Given the description of an element on the screen output the (x, y) to click on. 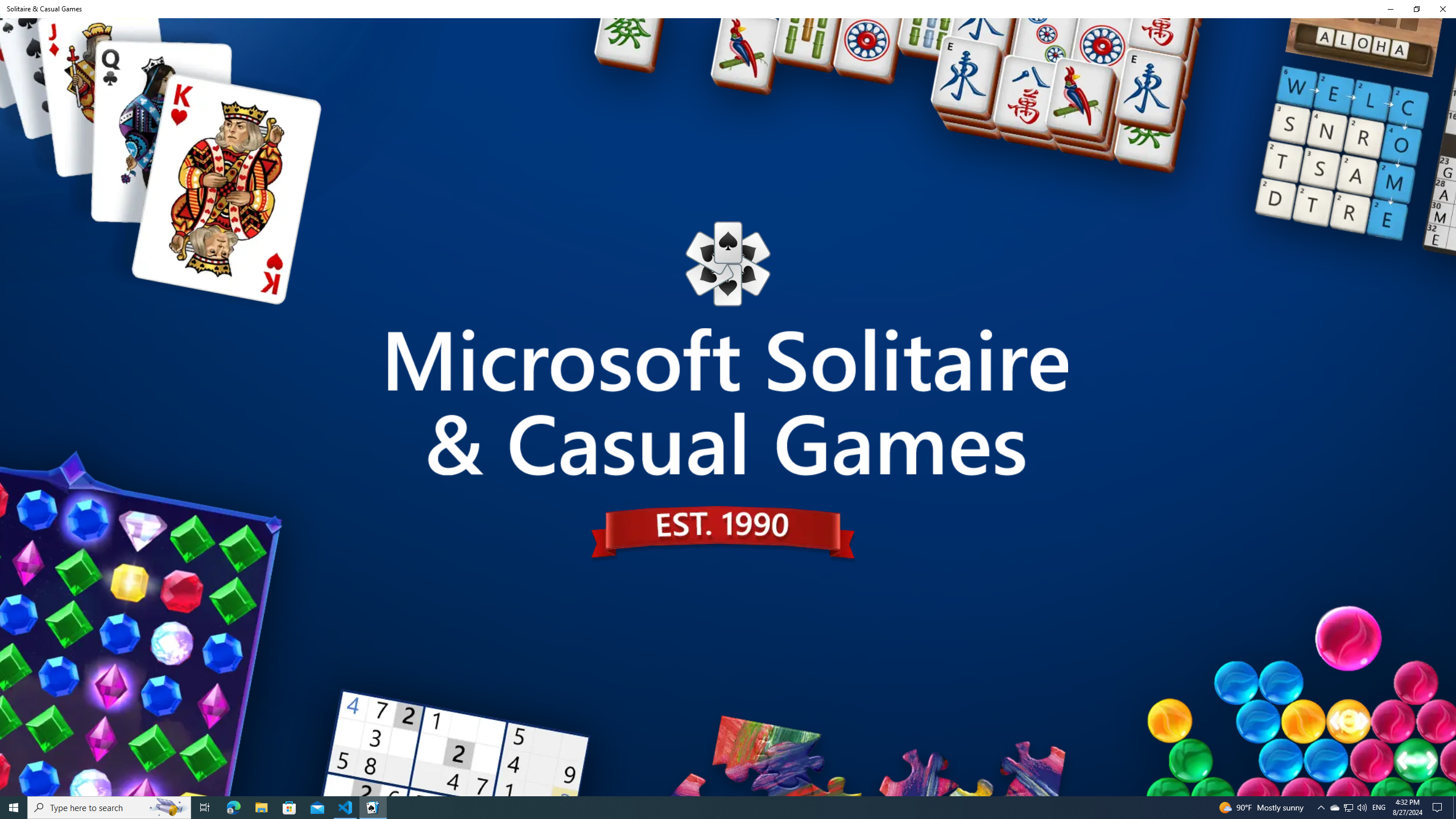
Microsoft Store (289, 807)
Show desktop (1454, 807)
File Explorer (261, 807)
Microsoft Edge (233, 807)
Tray Input Indicator - English (United States) (1378, 807)
Restore Solitaire & Casual Games (1416, 9)
Close Solitaire & Casual Games (1442, 9)
Type here to search (108, 807)
Running applications (706, 807)
Search highlights icon opens search home window (167, 807)
Q2790: 100% (1361, 807)
